Given the description of an element on the screen output the (x, y) to click on. 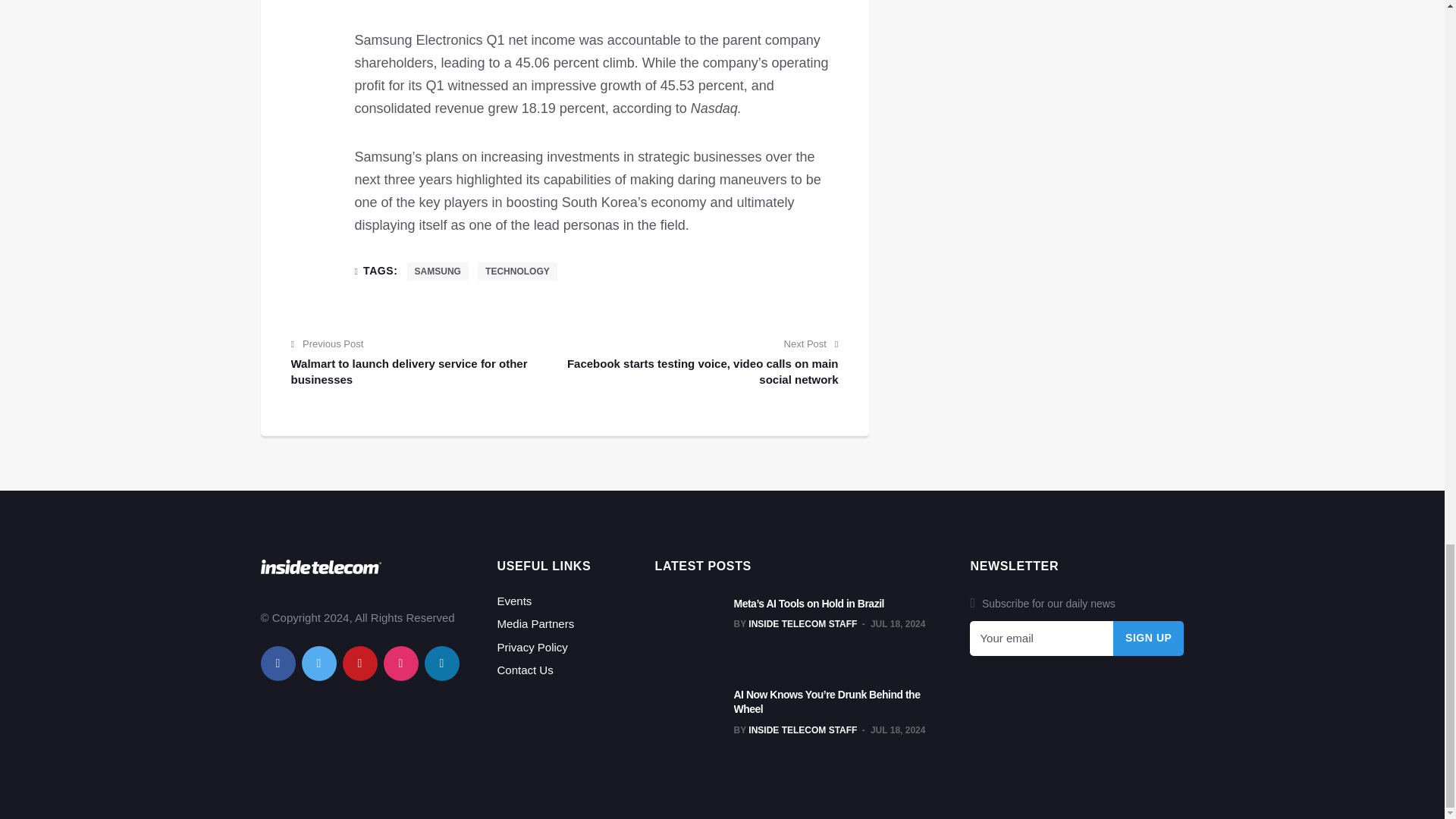
Sign Up (1149, 638)
